Given the description of an element on the screen output the (x, y) to click on. 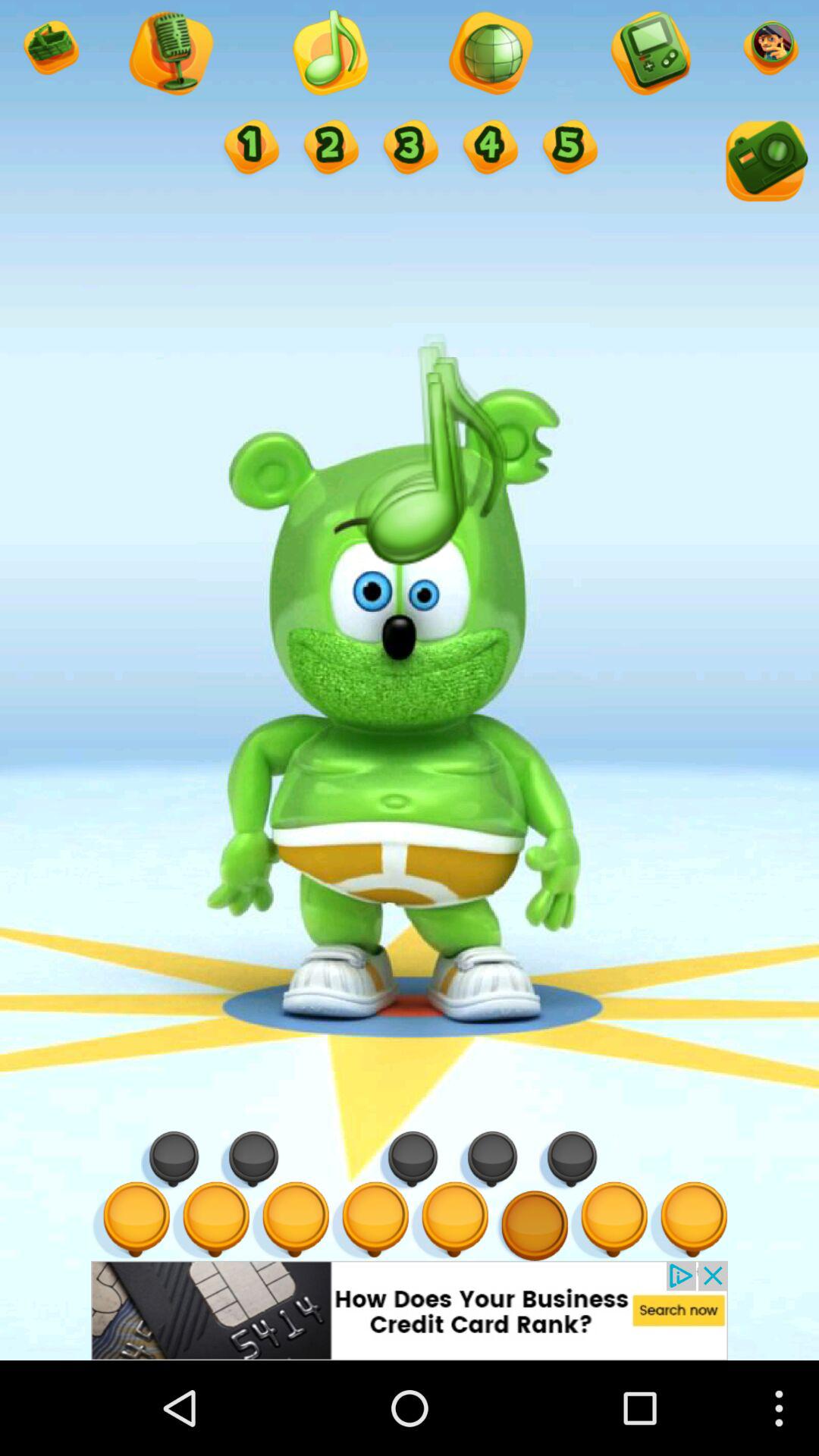
play (329, 55)
